Given the description of an element on the screen output the (x, y) to click on. 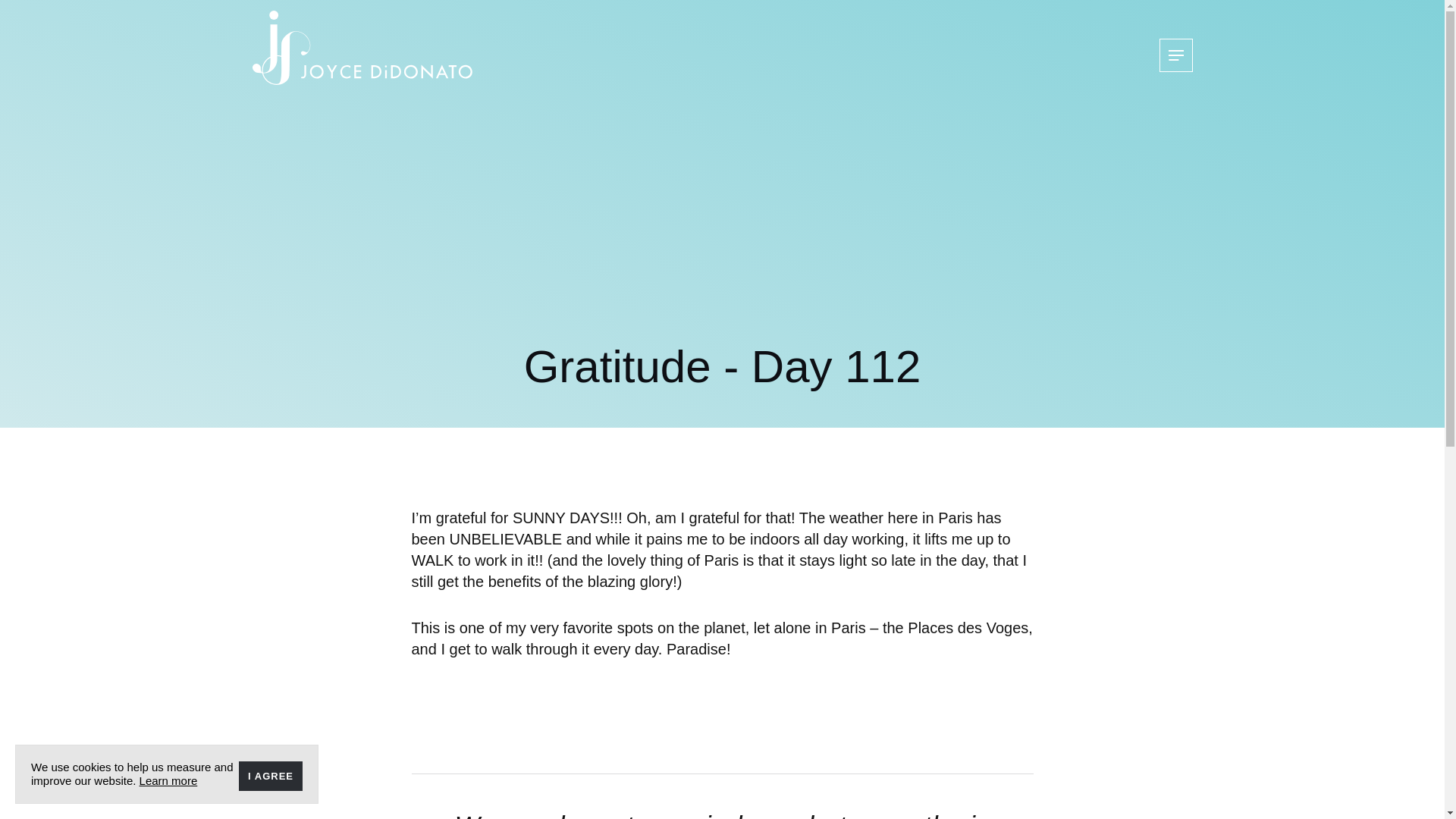
Joyce DiDonato (361, 47)
I AGREE (270, 776)
Learn more (168, 780)
